Given the description of an element on the screen output the (x, y) to click on. 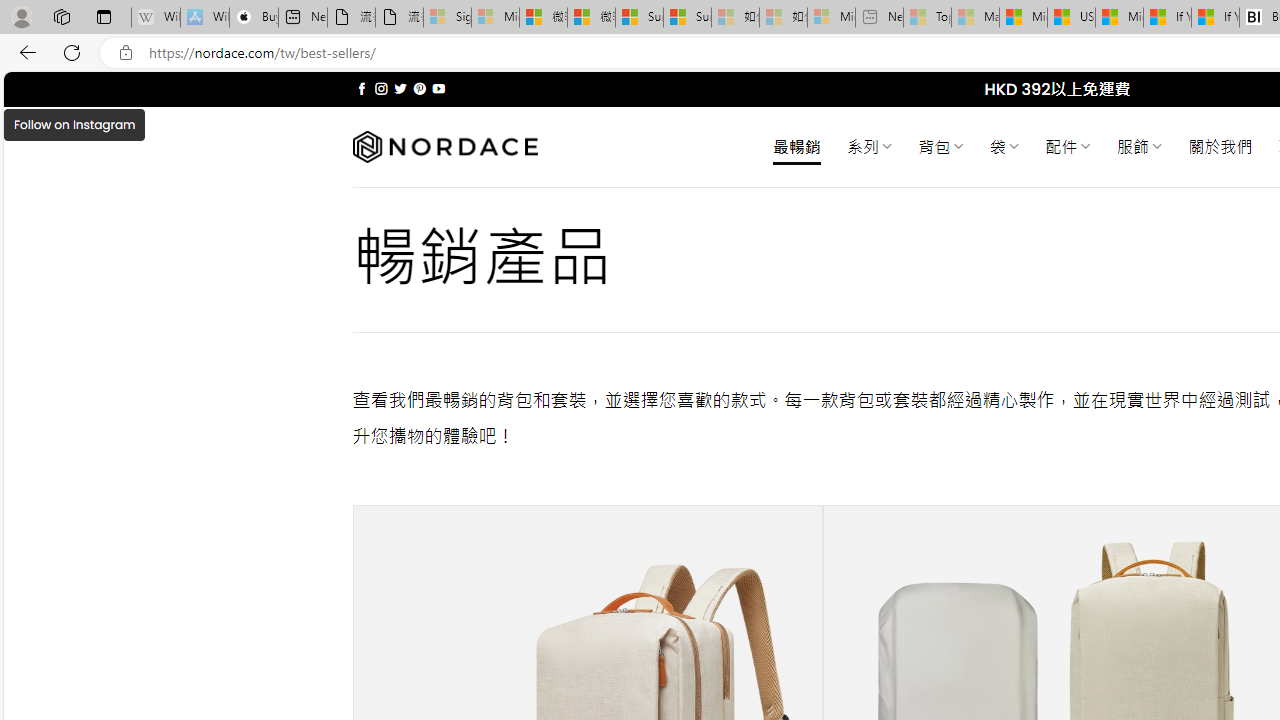
Follow on Twitter (400, 88)
Marine life - MSN - Sleeping (975, 17)
